Given the description of an element on the screen output the (x, y) to click on. 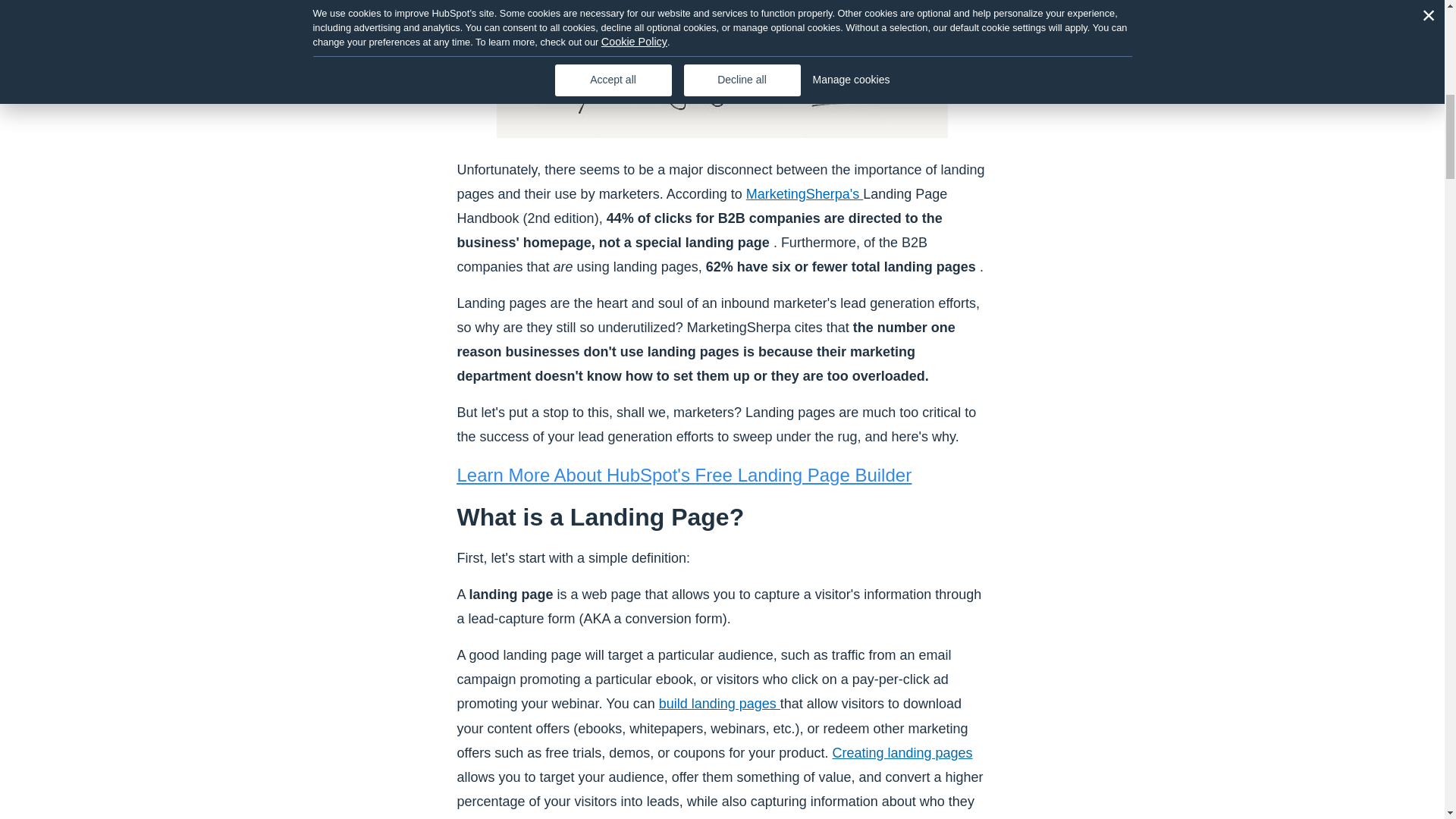
build landing pages (719, 703)
MarketingSherpa's (804, 193)
Learn More About HubSpot's Free Landing Page Builder (684, 475)
